Given the description of an element on the screen output the (x, y) to click on. 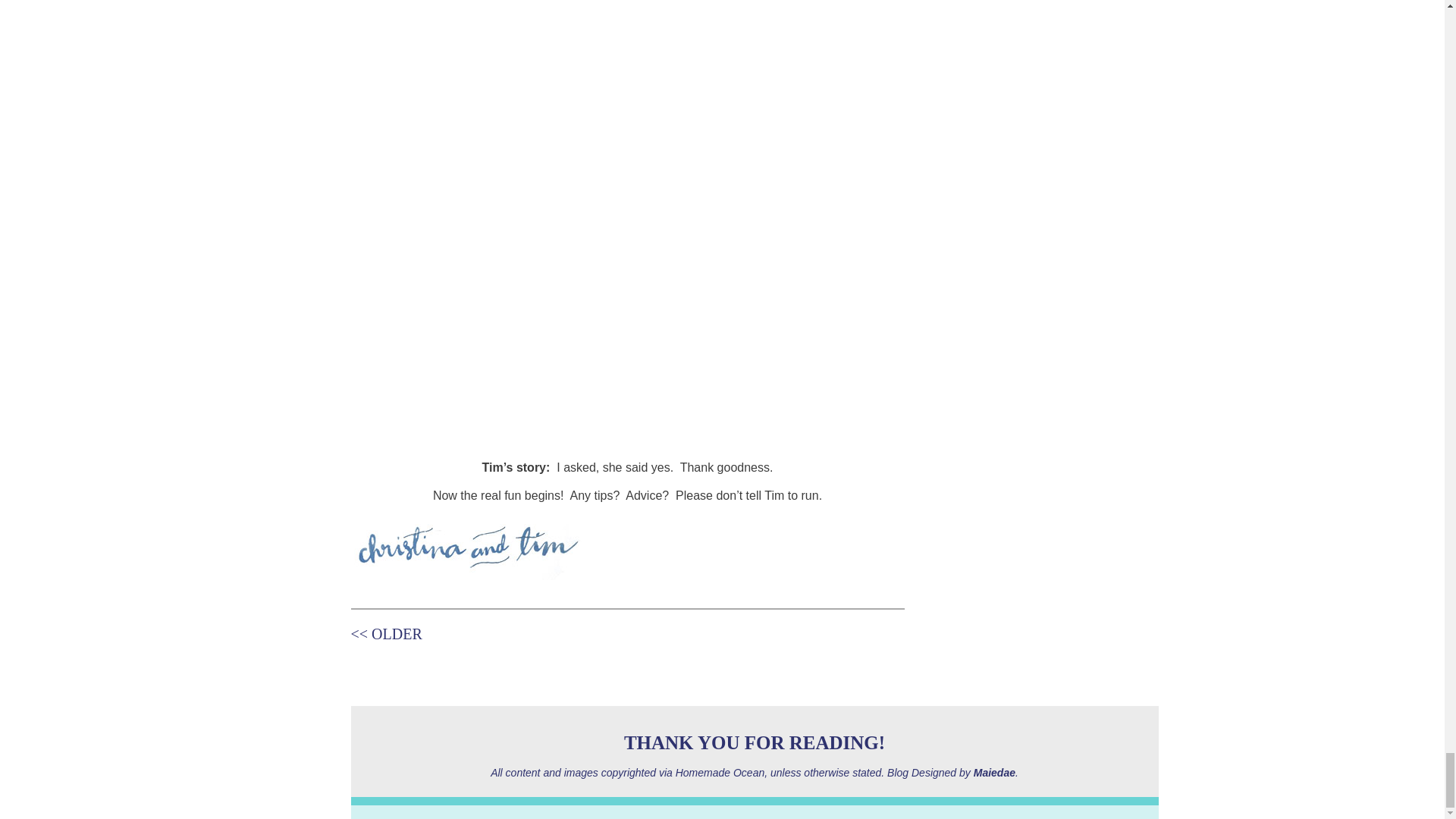
MaieDae (994, 771)
